Given the description of an element on the screen output the (x, y) to click on. 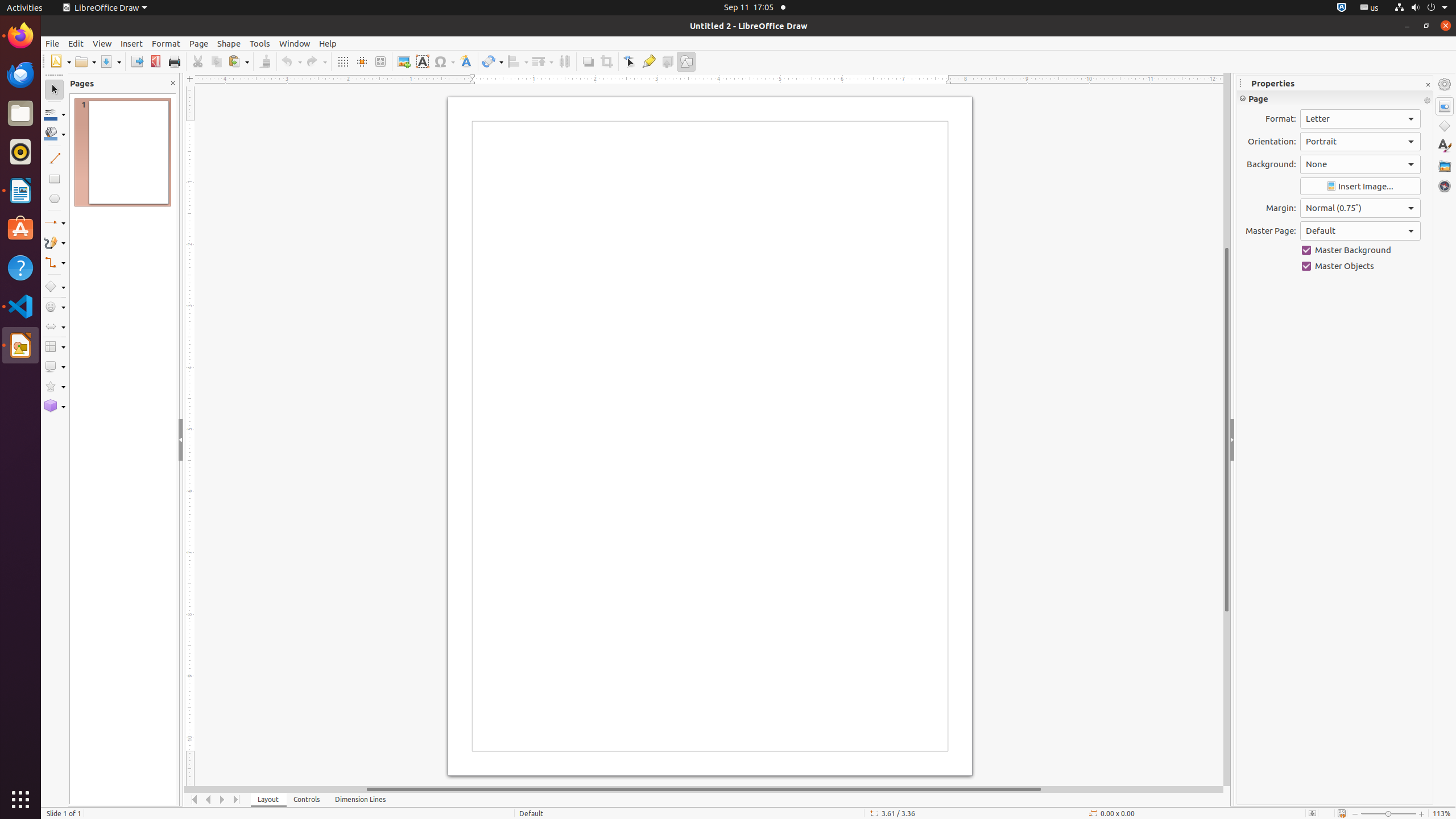
Move Right Element type: push-button (222, 799)
Export Element type: push-button (136, 61)
Lines and Arrows Element type: push-button (54, 222)
Move To Home Element type: push-button (194, 799)
Rhythmbox Element type: push-button (20, 151)
